Given the description of an element on the screen output the (x, y) to click on. 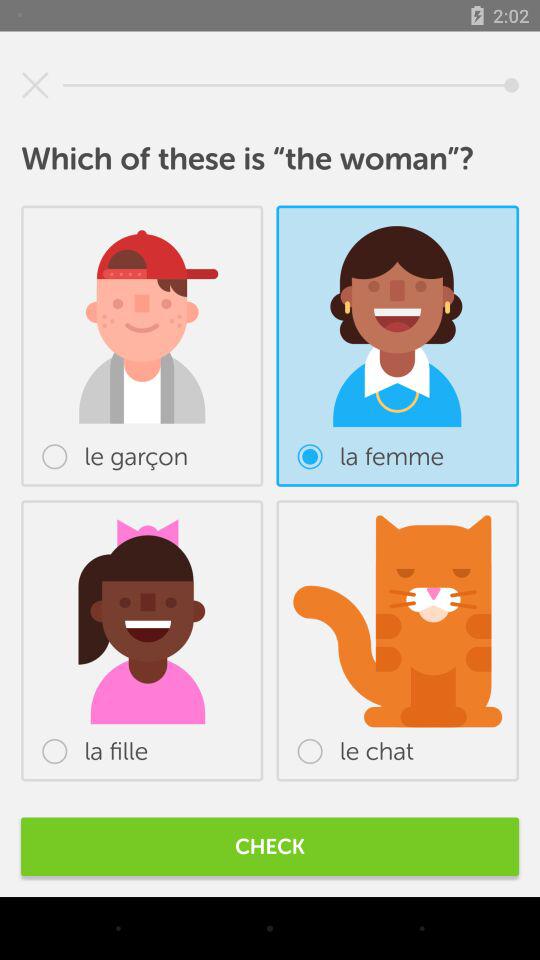
flip to the check item (270, 846)
